Given the description of an element on the screen output the (x, y) to click on. 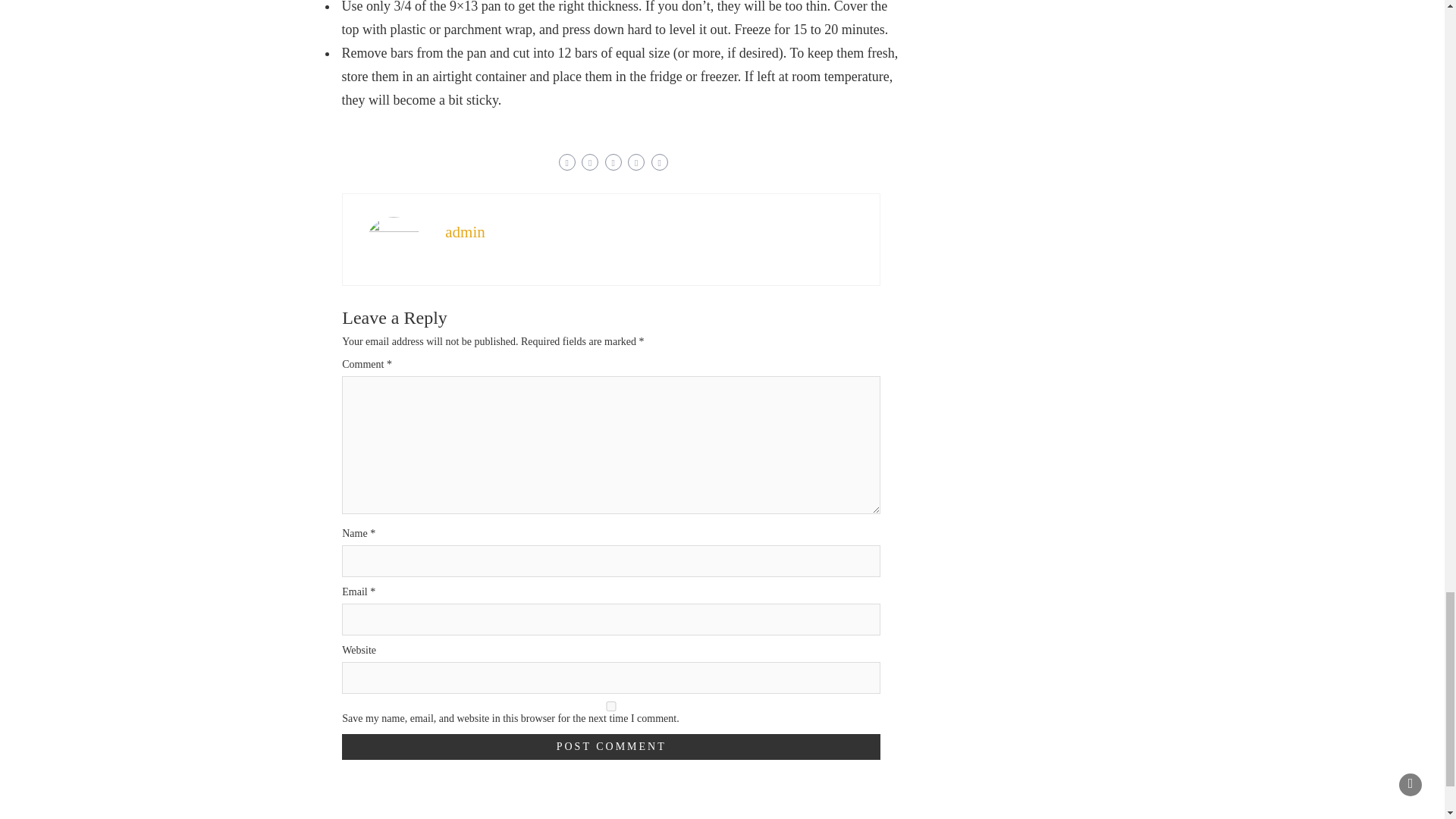
admin (464, 231)
Post Comment (611, 746)
yes (611, 706)
Post Comment (611, 746)
